Given the description of an element on the screen output the (x, y) to click on. 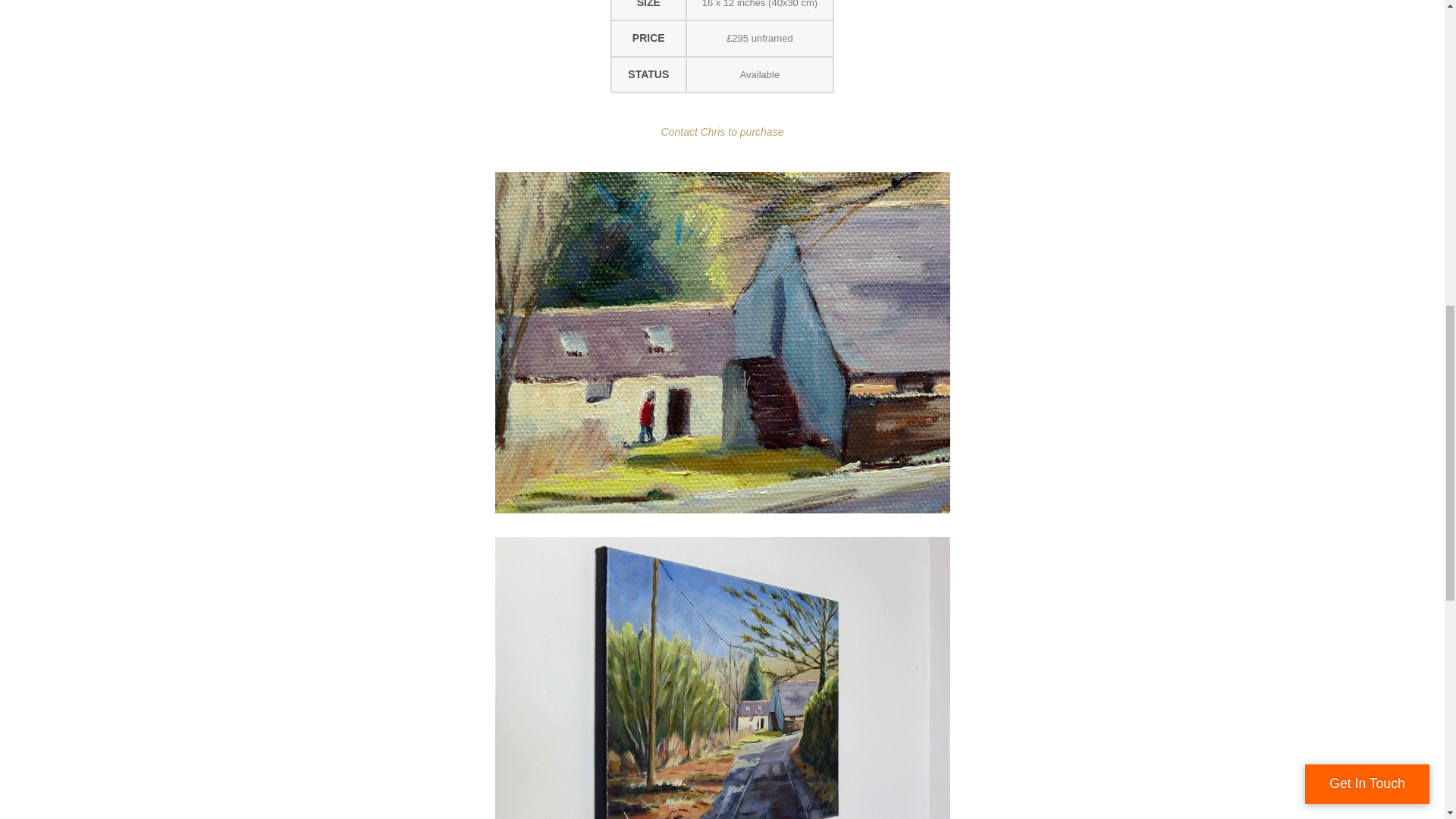
Contact Chris to purchase (722, 132)
